Given the description of an element on the screen output the (x, y) to click on. 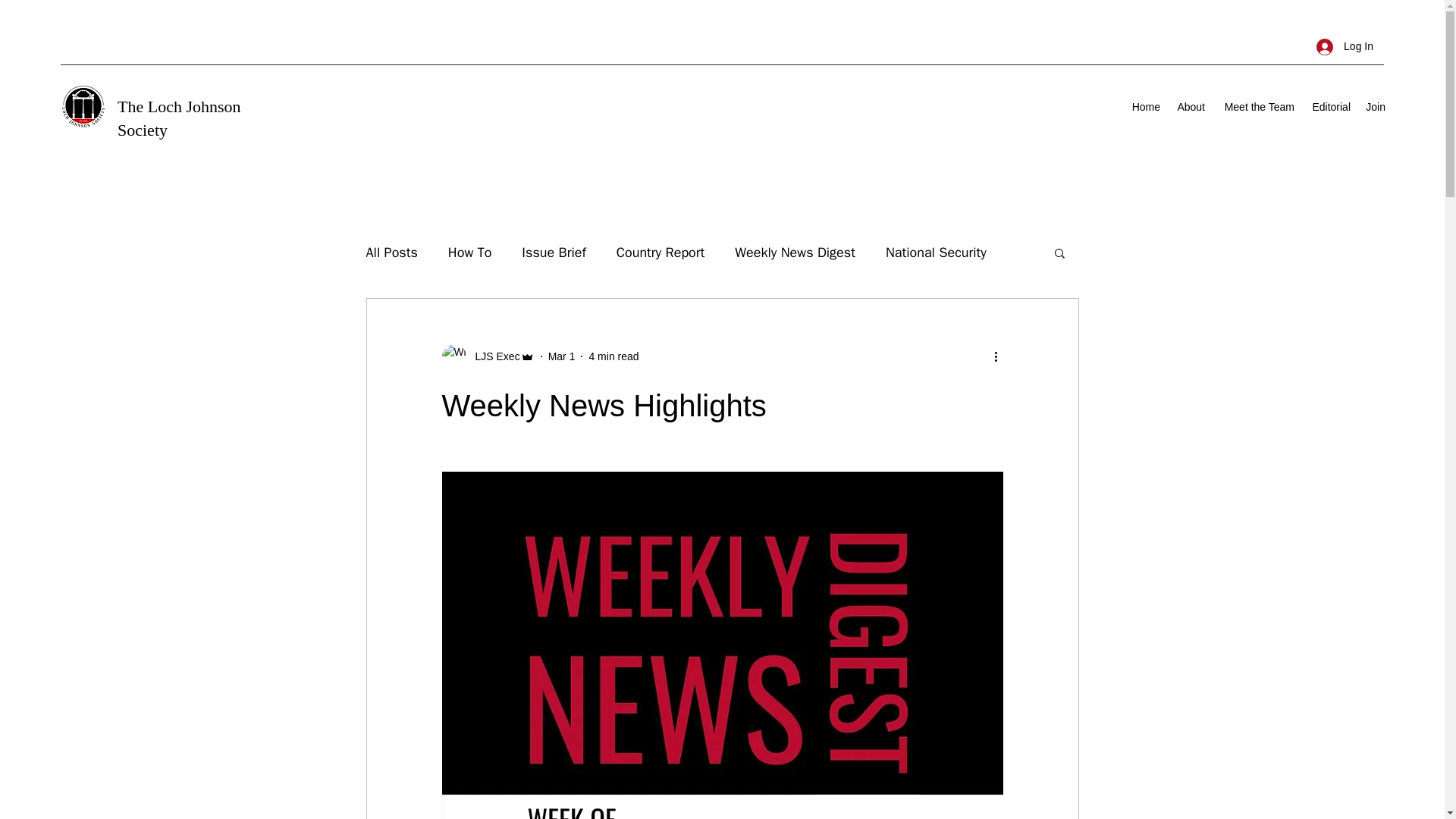
Log In (1345, 46)
The Loch Johnson Society (179, 118)
LJS Exec (487, 355)
Weekly News Digest (795, 252)
LJS Exec (492, 356)
Meet the Team (1256, 106)
Join (1375, 106)
How To (470, 252)
Issue Brief (553, 252)
All Posts (390, 252)
Home (1144, 106)
4 min read (613, 356)
Editorial (1329, 106)
Mar 1 (561, 356)
National Security (936, 252)
